Given the description of an element on the screen output the (x, y) to click on. 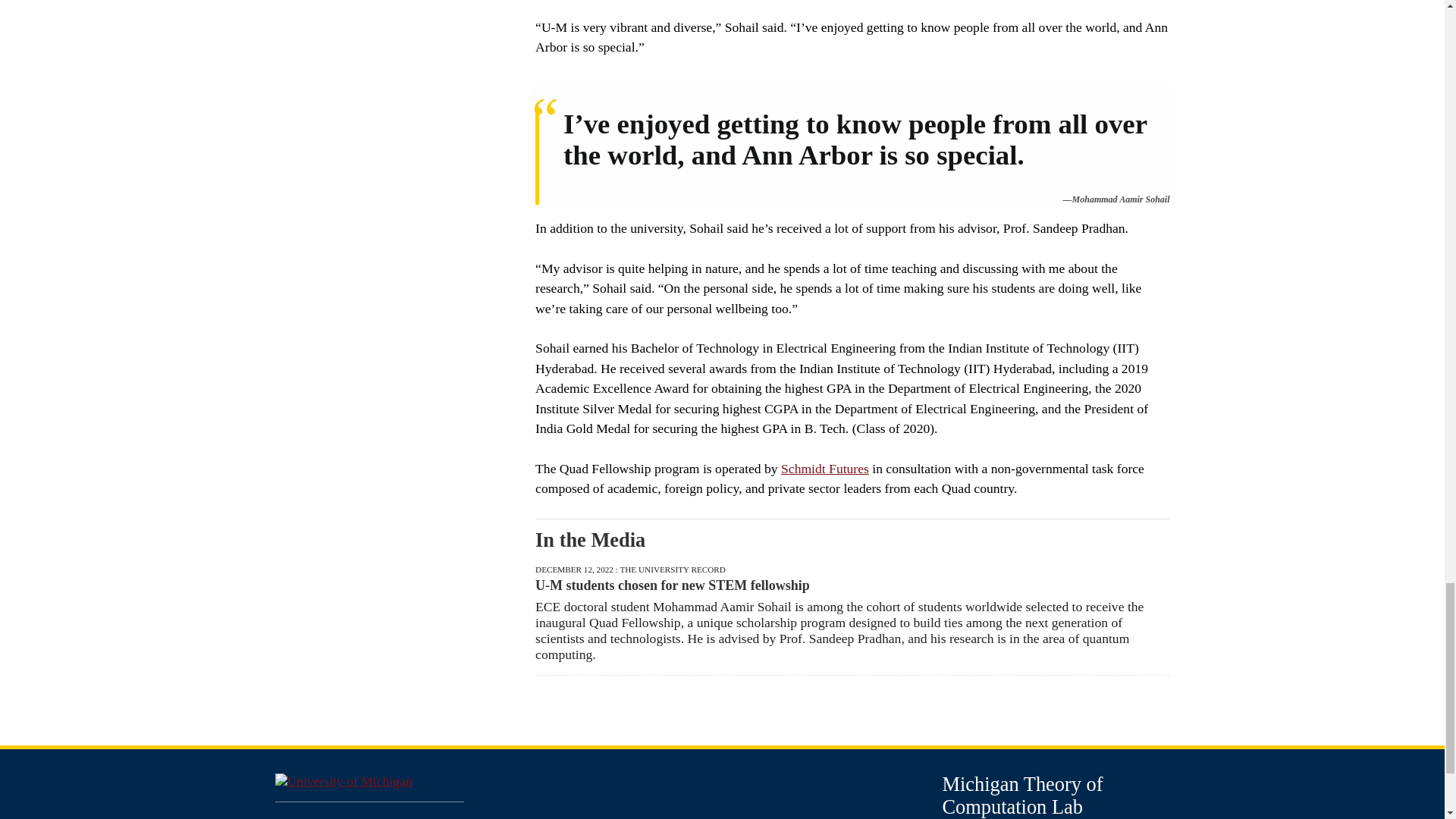
Michigan Theory of Computation Lab (1022, 795)
Schmidt Futures (824, 468)
